Given the description of an element on the screen output the (x, y) to click on. 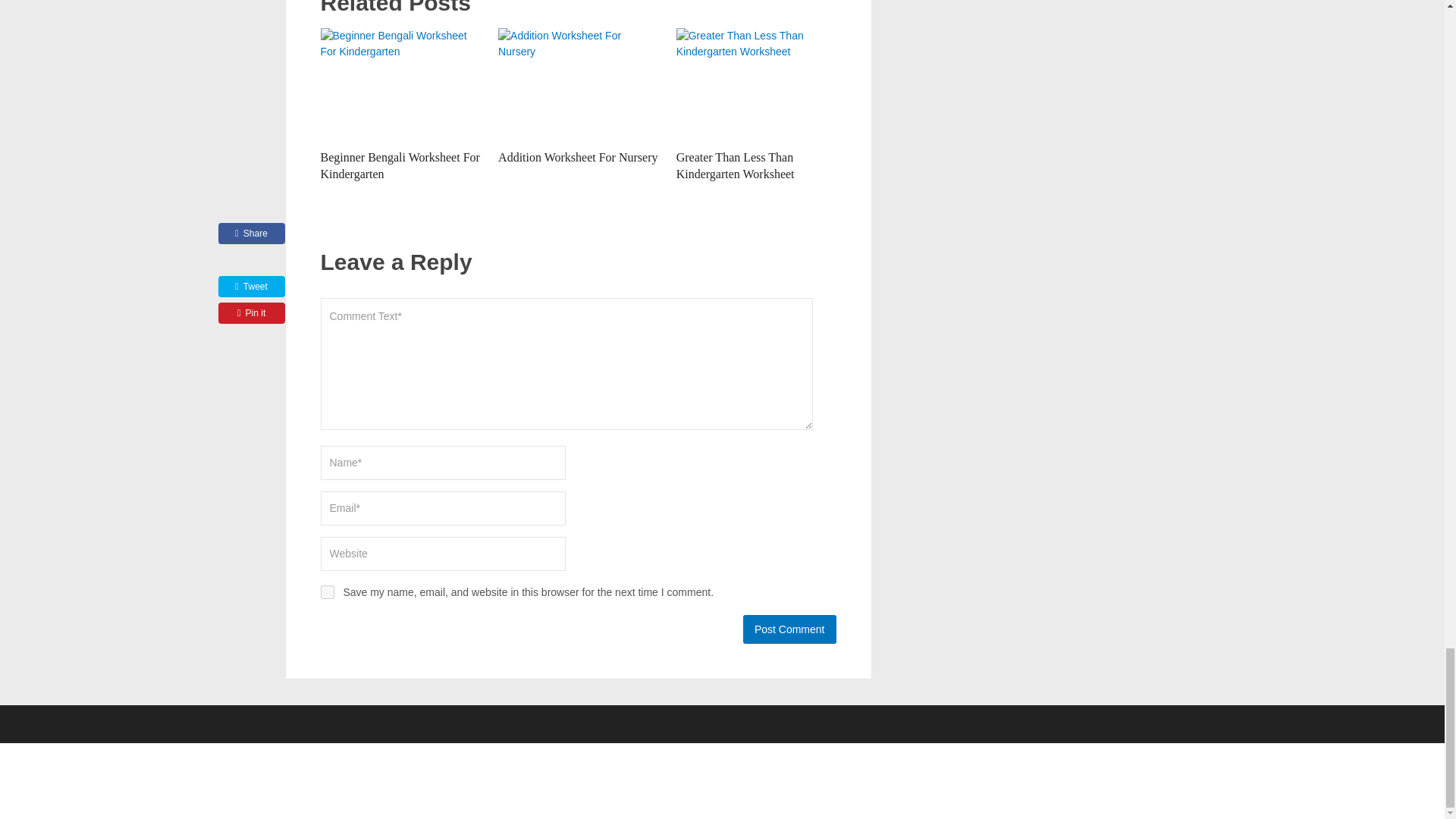
Beginner Bengali Worksheet For Kindergarten (399, 165)
Beginner Bengali Worksheet For Kindergarten (400, 84)
yes (326, 591)
Greater Than Less Than Kindergarten Worksheet (756, 84)
Addition Worksheet For Nursery (577, 84)
Greater Than Less Than Kindergarten Worksheet (735, 165)
Addition Worksheet For Nursery (577, 156)
Addition Worksheet For Nursery (577, 156)
Post Comment (788, 629)
Beginner Bengali Worksheet For Kindergarten (399, 165)
